Given the description of an element on the screen output the (x, y) to click on. 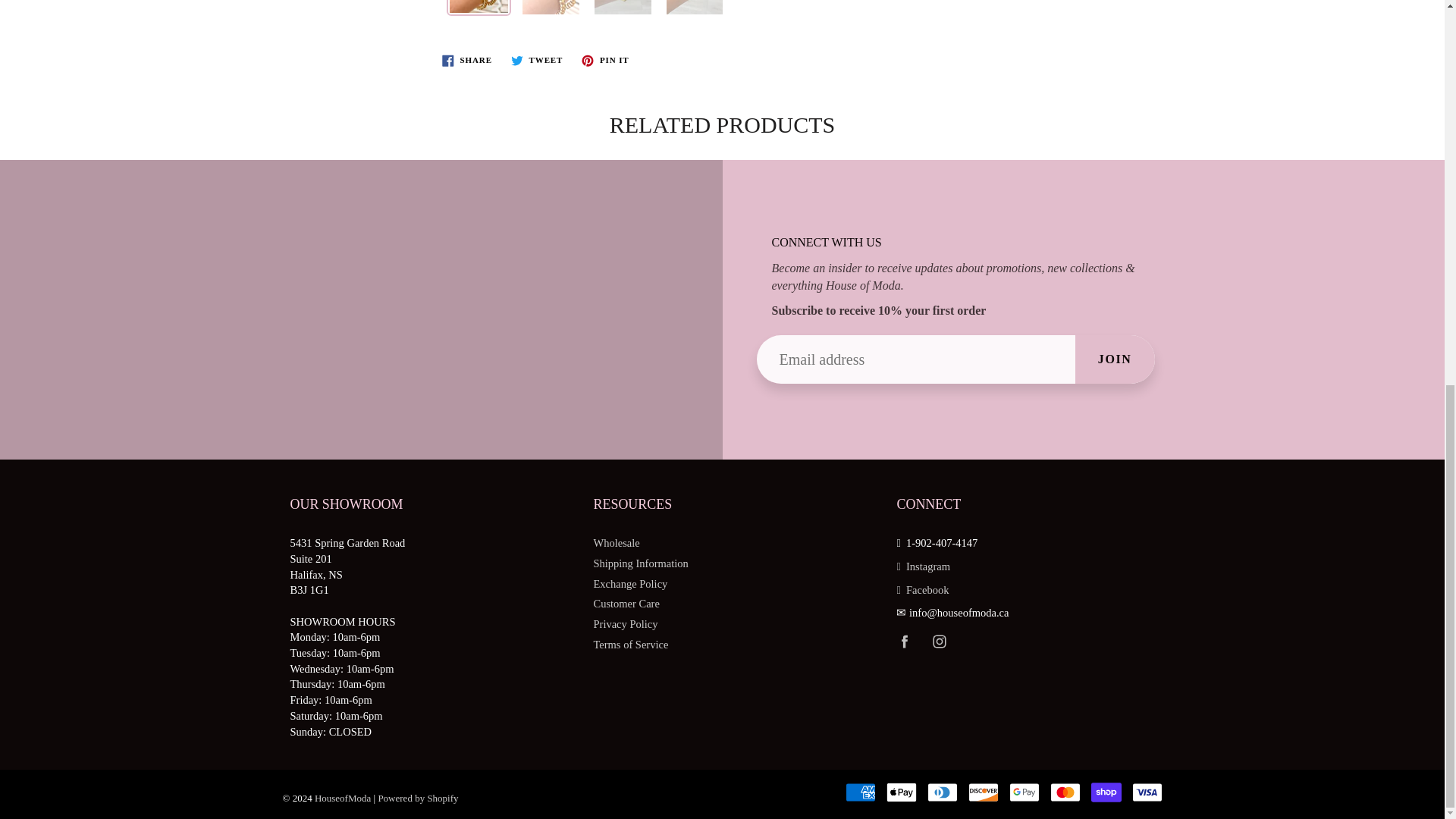
Diners Club (941, 792)
Mastercard (1064, 792)
Apple Pay (900, 792)
Discover (982, 792)
Tweet on Twitter (537, 59)
Hematite Evil Eye Bracelet (478, 6)
American Express (859, 792)
Visa (1146, 792)
Pin on Pinterest (604, 59)
Shop Pay (1105, 792)
